Given the description of an element on the screen output the (x, y) to click on. 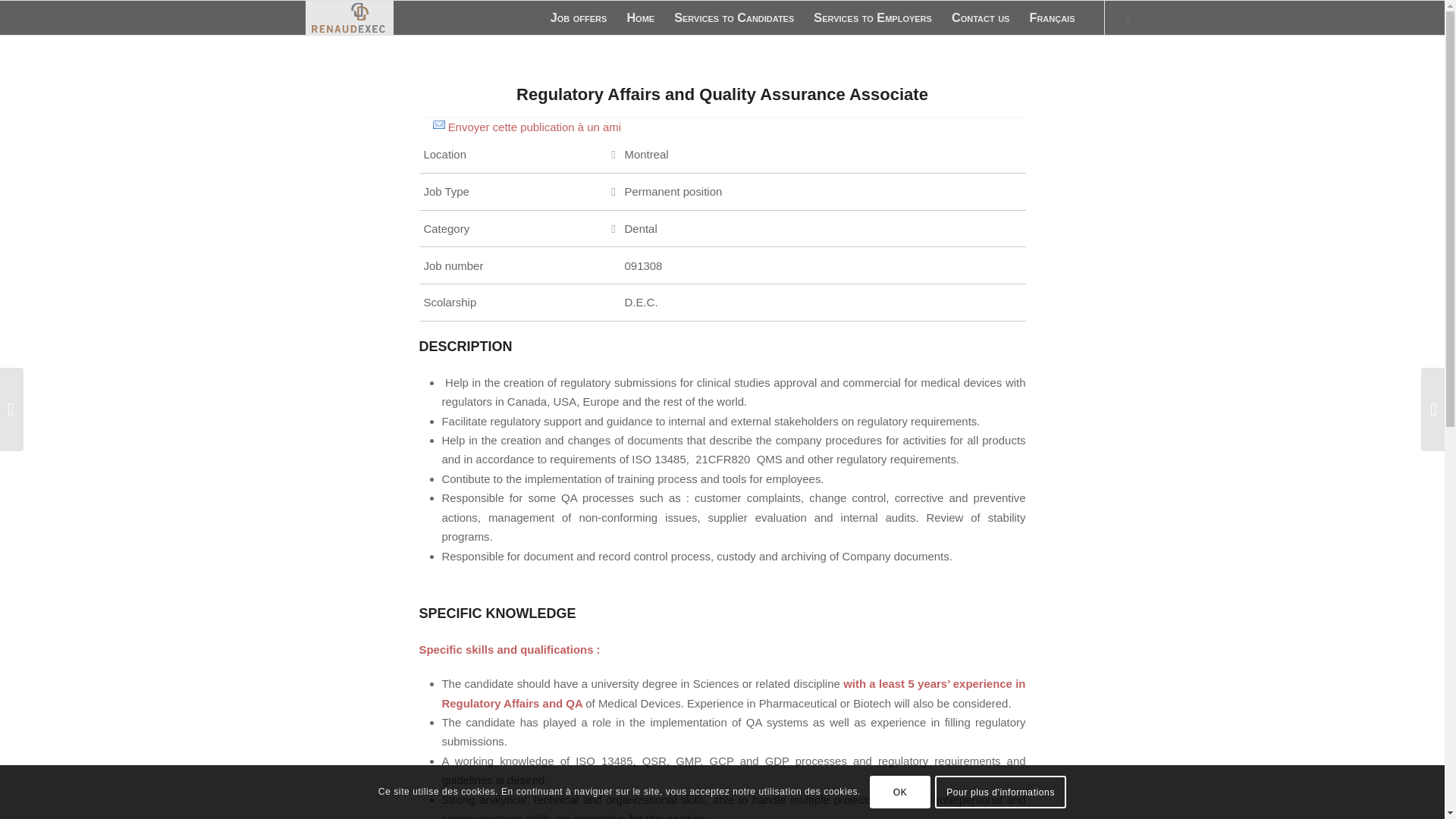
Contact us (981, 17)
OK (899, 791)
Services to Candidates (733, 17)
Job offers (578, 17)
Services to Employers (872, 17)
Home (639, 17)
LinkedIn (1127, 16)
